Given the description of an element on the screen output the (x, y) to click on. 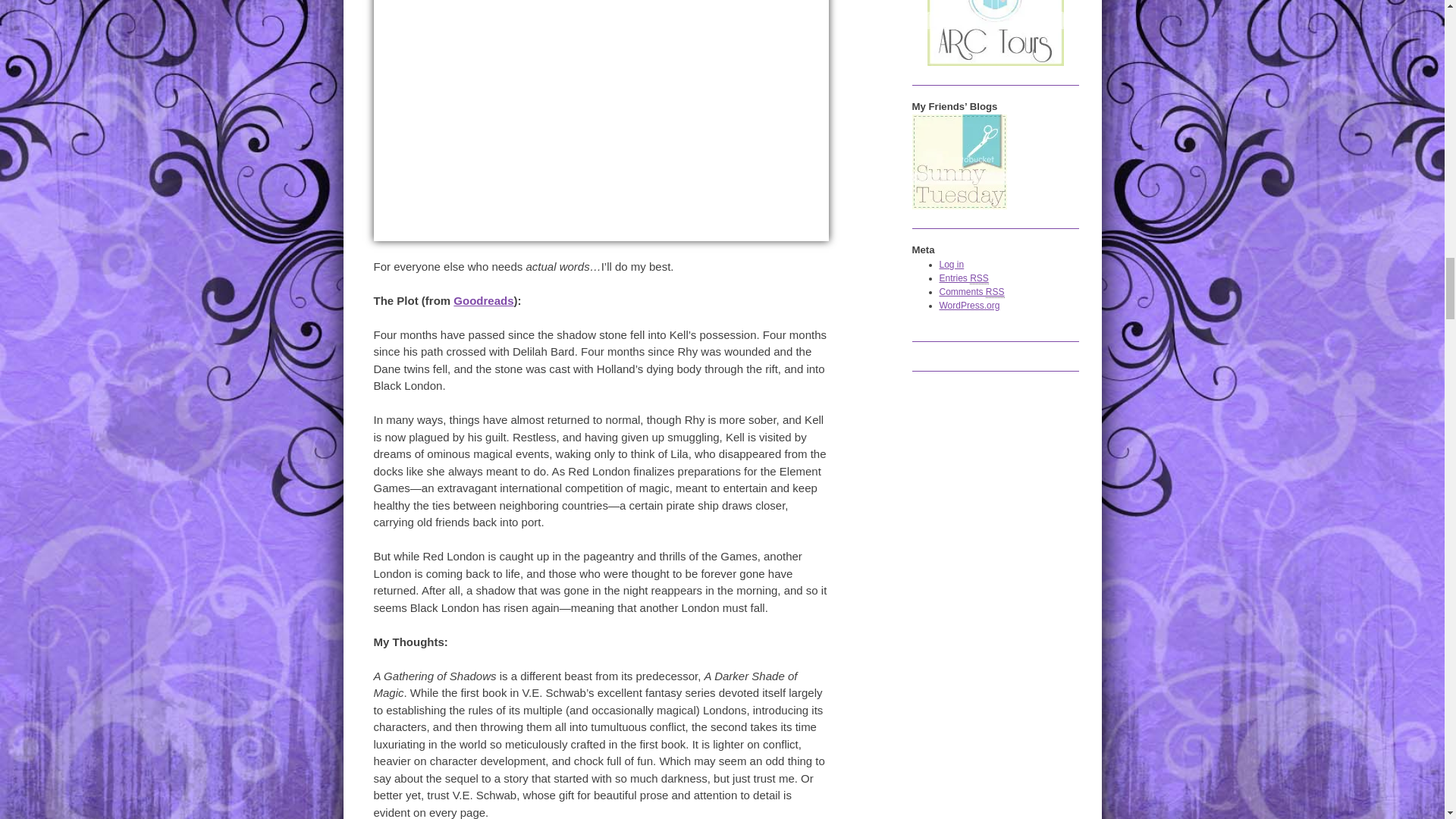
Goodreads (482, 300)
